Given the description of an element on the screen output the (x, y) to click on. 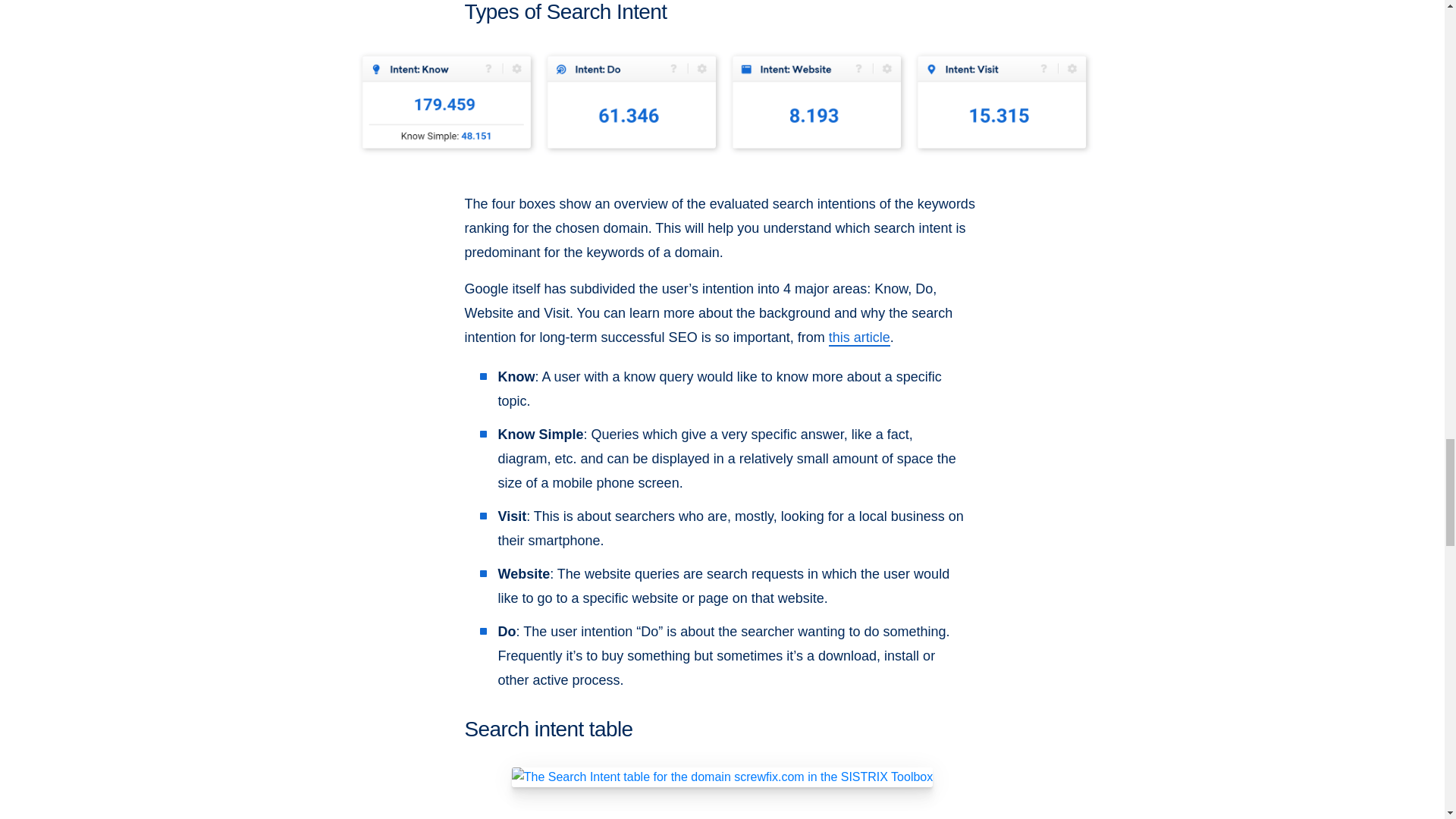
this article (858, 338)
